Given the description of an element on the screen output the (x, y) to click on. 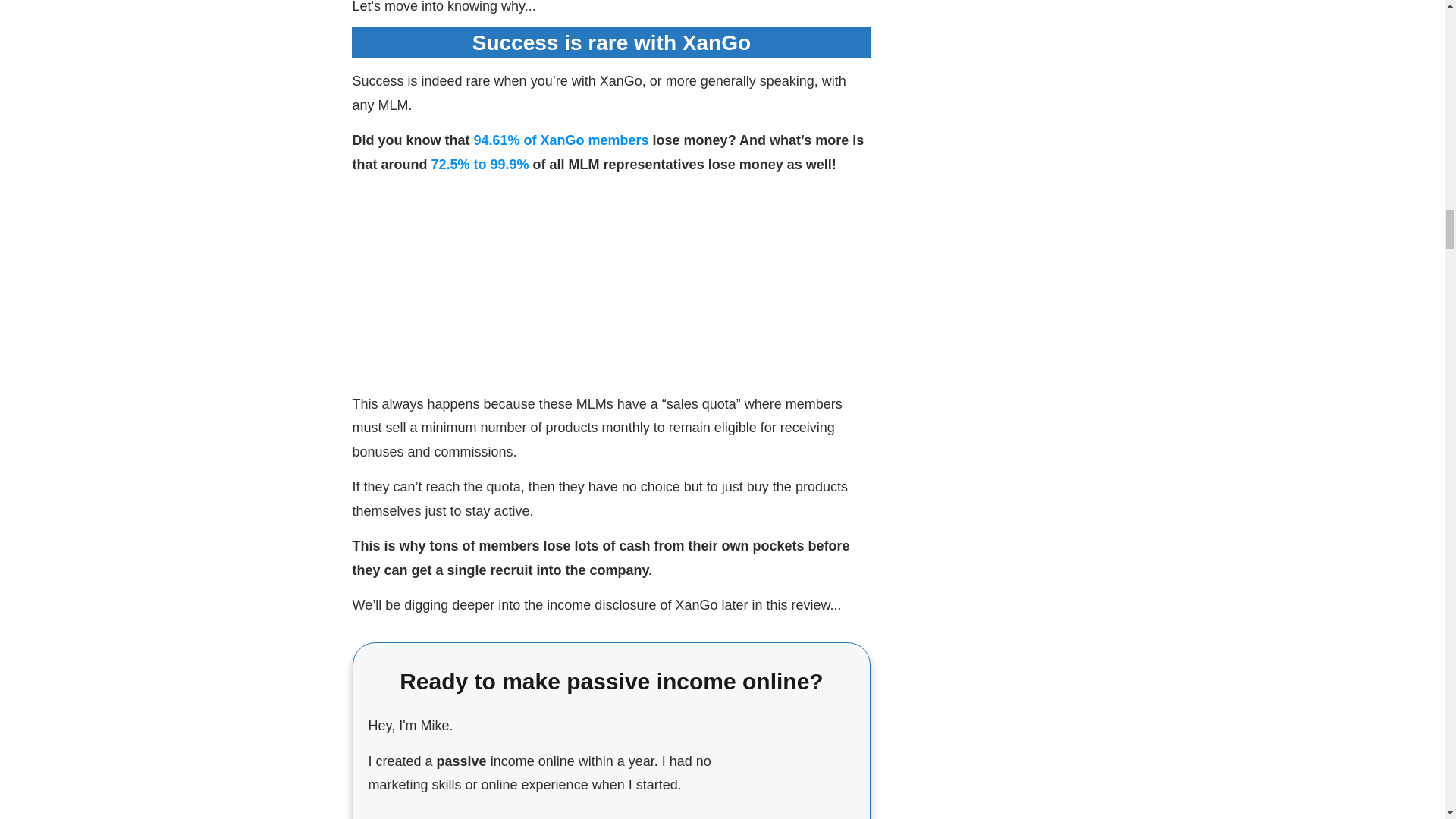
92.3 Percent of Members Lose Money in MLMs-min (611, 282)
